Given the description of an element on the screen output the (x, y) to click on. 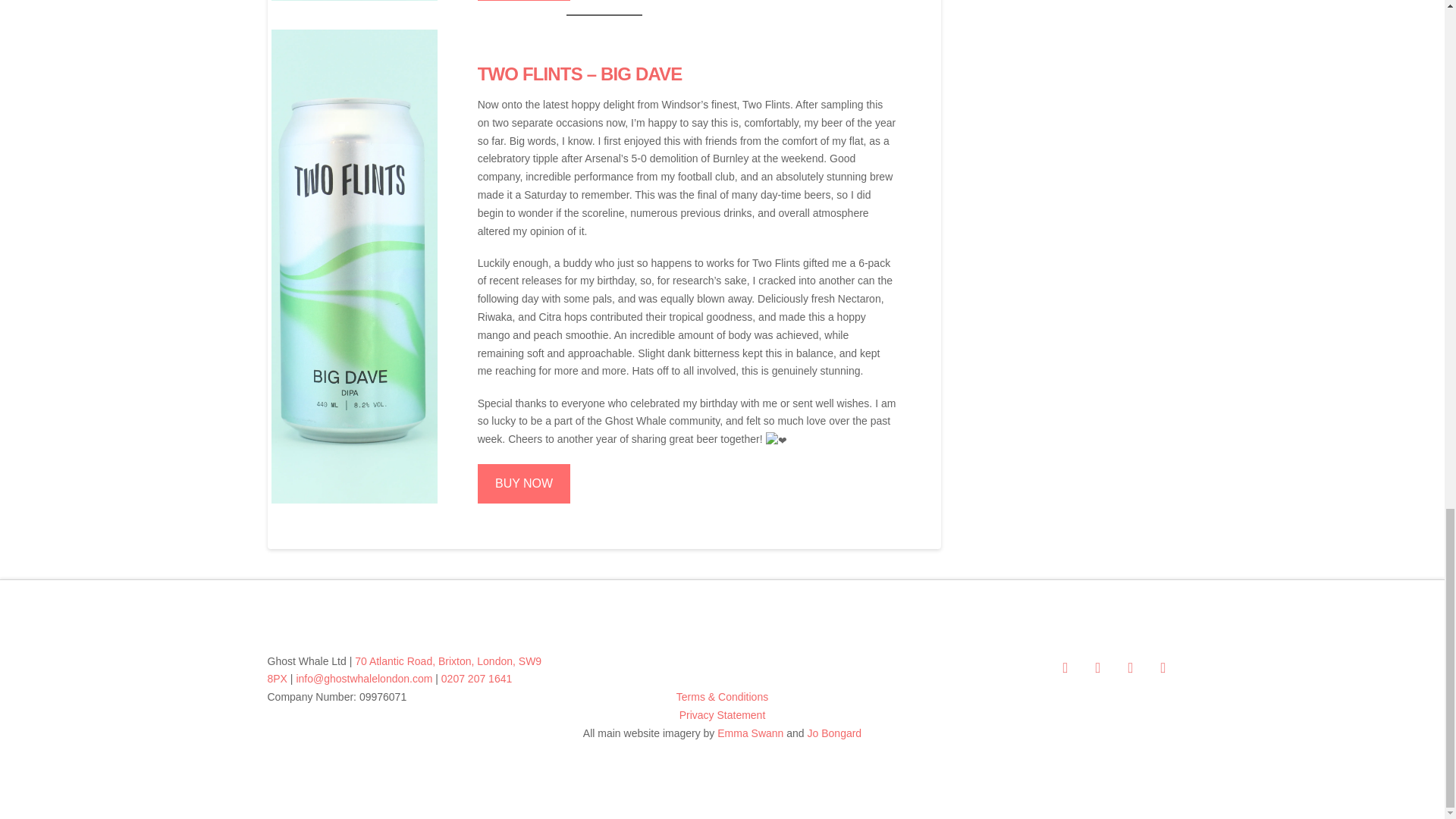
BUY NOW (523, 484)
Ghost Whale on Spotify (1162, 667)
Ghost Whale on Instagram (1130, 667)
Ghost Whale on Facebook (1064, 667)
TWO FLINTS (529, 73)
Ghost Whale on Twitter (1097, 667)
